Given the description of an element on the screen output the (x, y) to click on. 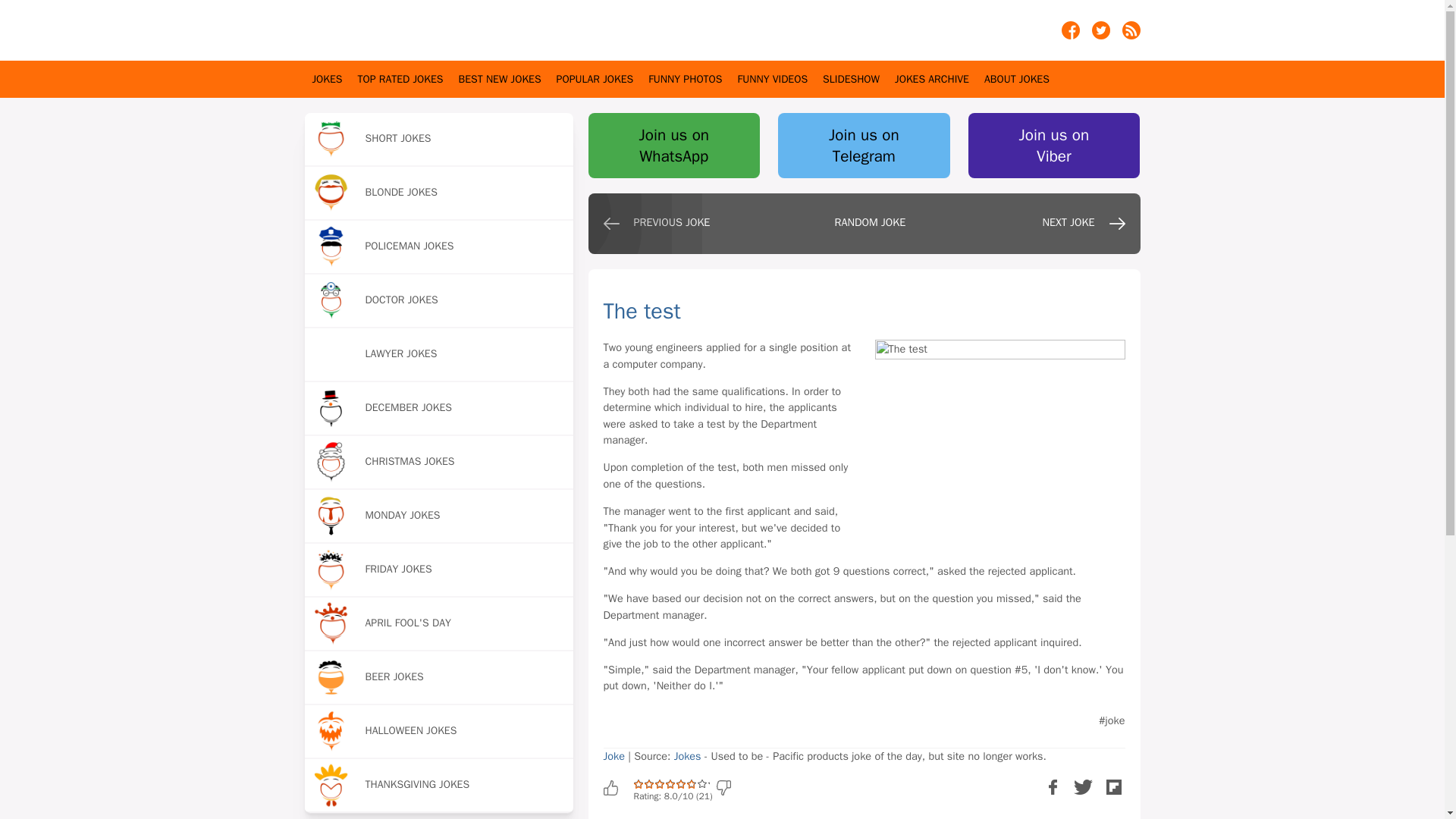
Jokes of the day on RSS feed (1131, 35)
PREVIOUS JOKE (660, 227)
RANDOM JOKE (860, 227)
Popular Jokes (594, 78)
Slideshow (850, 78)
The best jokes in the last 4 weeks (499, 78)
Joke (614, 755)
SLIDESHOW (850, 78)
FUNNY VIDEOS (772, 78)
Funny Videos (772, 78)
The Best Jokes - top rated jokes (401, 78)
JOKES (327, 78)
BEST NEW JOKES (499, 78)
POPULAR JOKES (594, 78)
About Jokes (1016, 78)
